Given the description of an element on the screen output the (x, y) to click on. 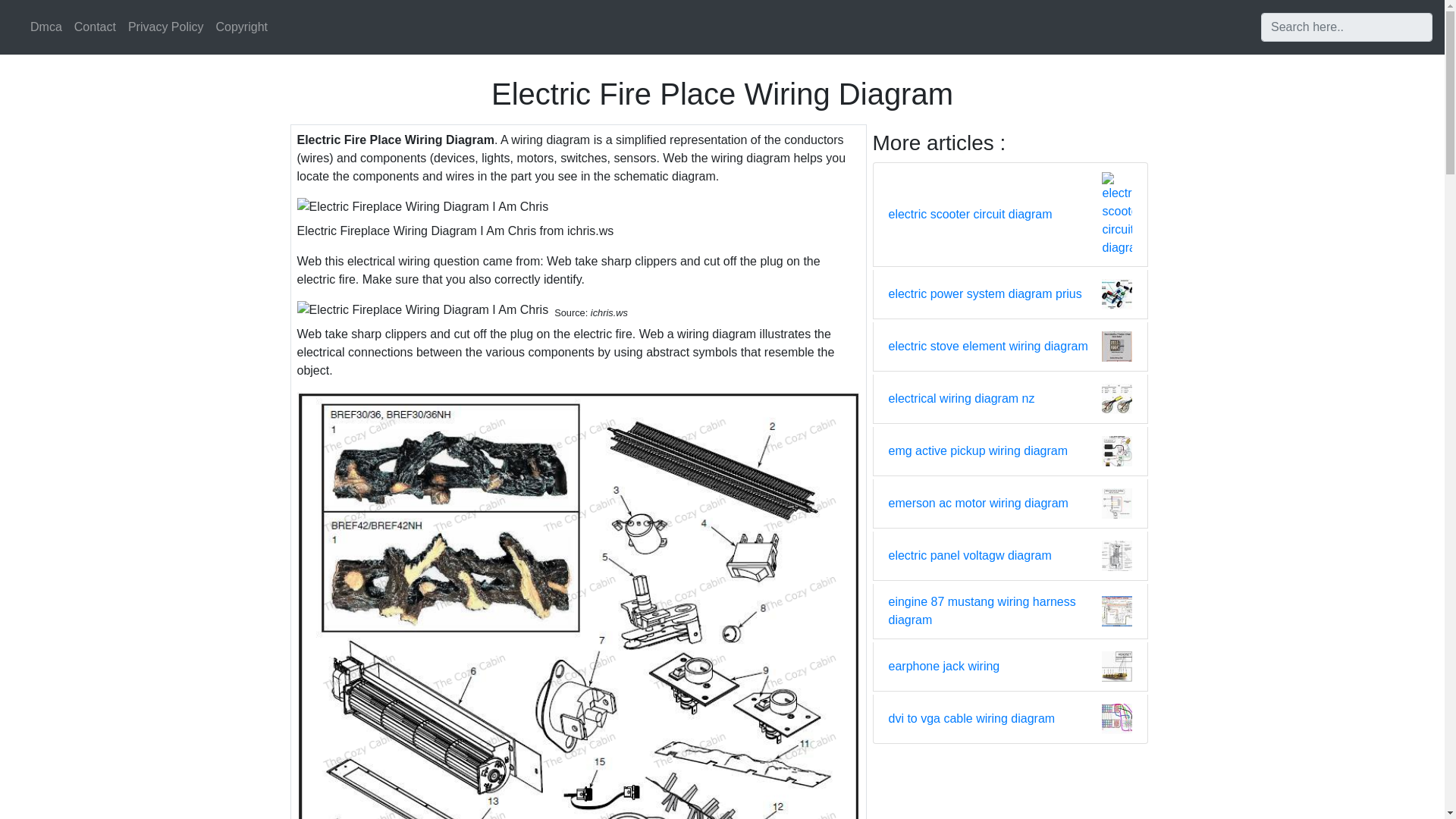
electric scooter circuit diagram (970, 214)
Dmca (46, 27)
earphone jack wiring (944, 666)
electric panel voltagw diagram (969, 556)
electrical wiring diagram nz (961, 398)
electric power system diagram prius (984, 294)
Contact (95, 27)
electric stove element wiring diagram (987, 346)
Copyright (241, 27)
eingine 87 mustang wiring harness diagram (995, 610)
Privacy Policy (165, 27)
emerson ac motor wiring diagram (978, 503)
emg active pickup wiring diagram (978, 451)
dvi to vga cable wiring diagram (971, 719)
